Given the description of an element on the screen output the (x, y) to click on. 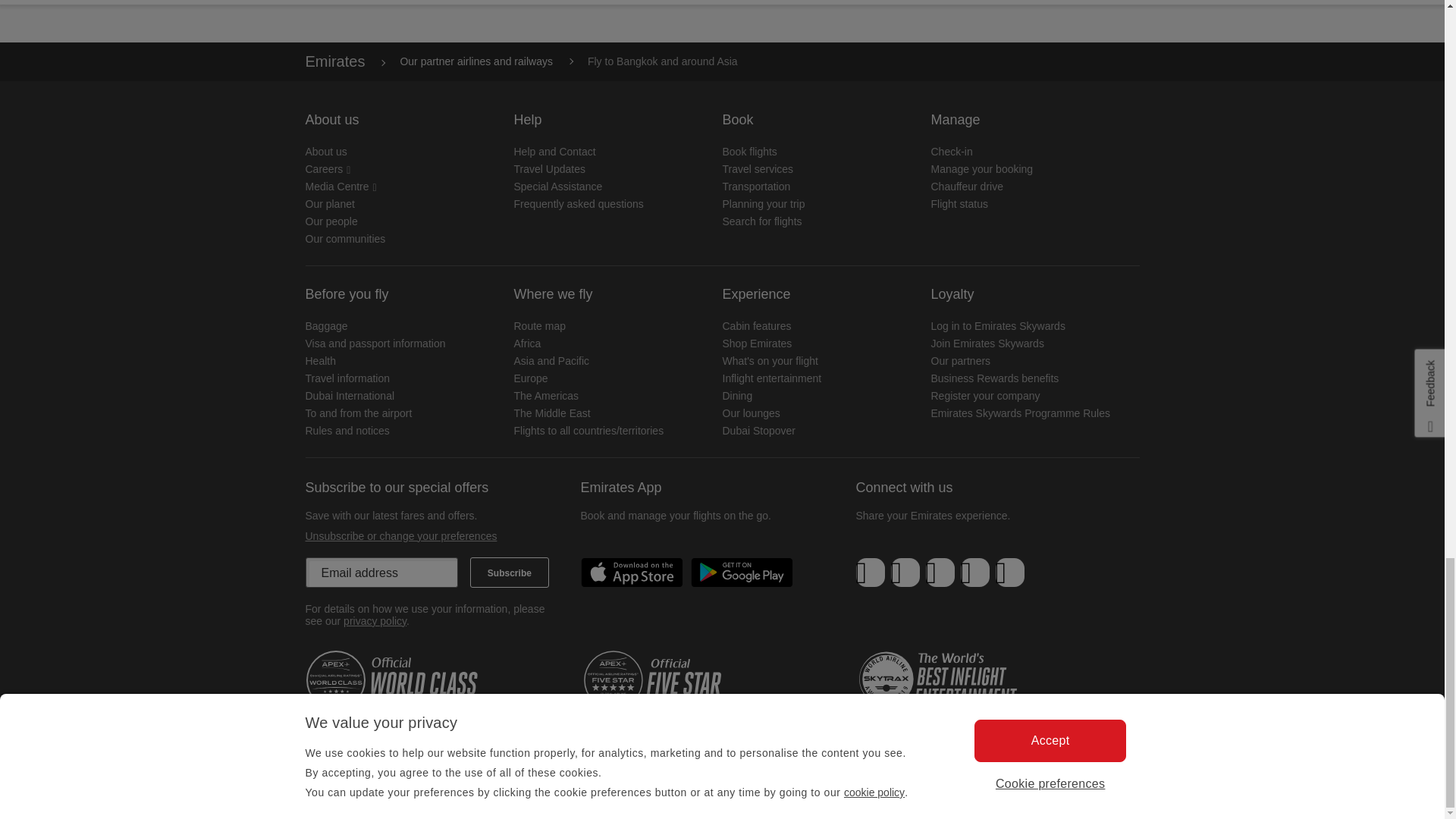
LinkedIn (939, 572)
Instagram (1009, 572)
Facebook (870, 572)
Apex five star rating 2021 (673, 680)
World Class Airline APEX Official Airline Ratings (395, 680)
Youtube (974, 572)
privacy policy (374, 621)
X-social (904, 572)
Unsubscribe or change your preferences (400, 535)
